Given the description of an element on the screen output the (x, y) to click on. 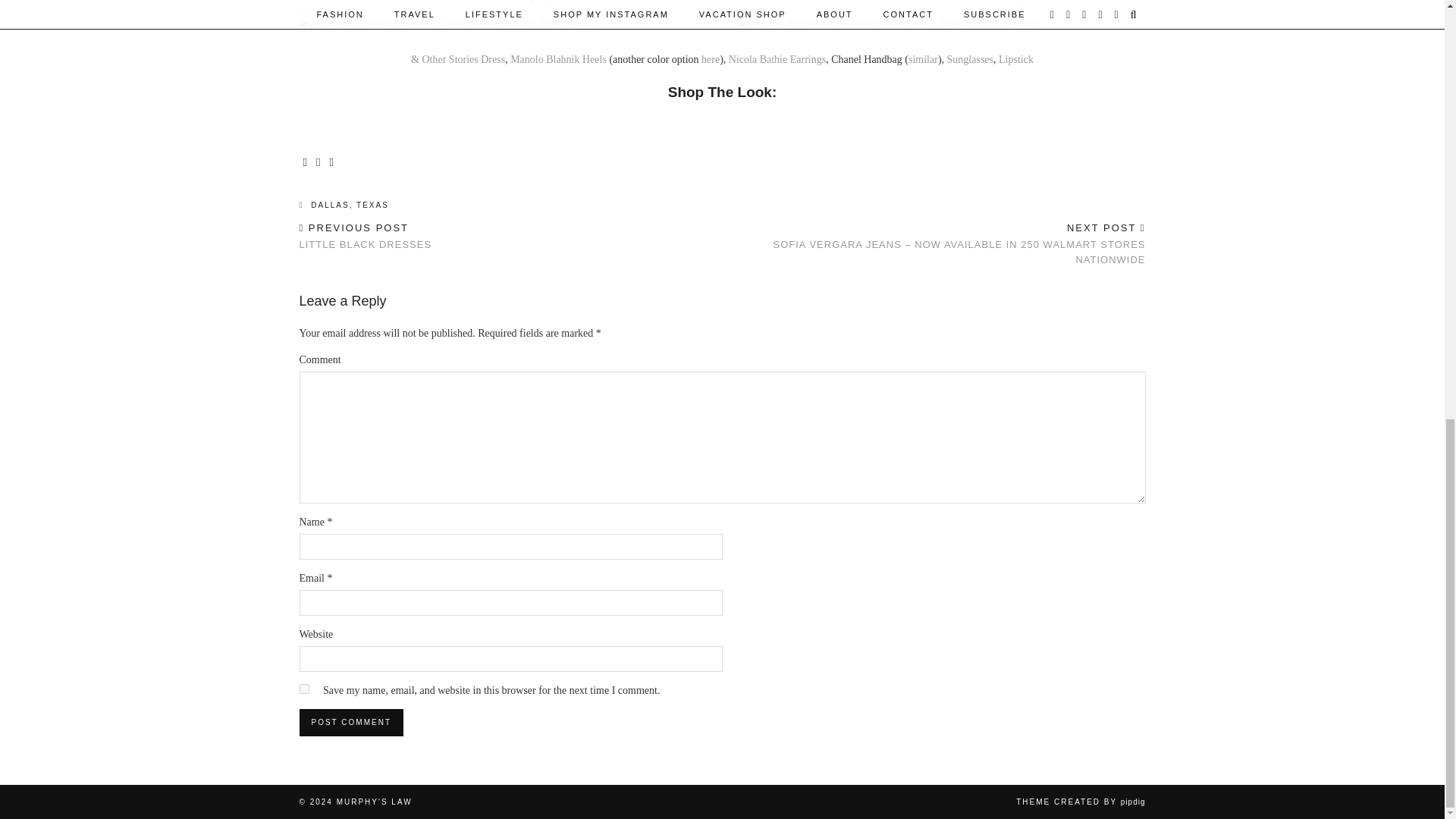
Sunglasses (969, 59)
Post Comment (350, 722)
here (710, 59)
Share on Pinterest (364, 236)
THEME CREATED BY pipdig (330, 162)
Share on Facebook (1080, 801)
Manolo Blahnik Heels (304, 162)
Share on Twitter (559, 59)
Post Comment (318, 162)
yes (350, 722)
DALLAS, TEXAS (303, 688)
MURPHY'S LAW (343, 204)
similar (374, 801)
Nicola Bathie Earrings (922, 59)
